Given the description of an element on the screen output the (x, y) to click on. 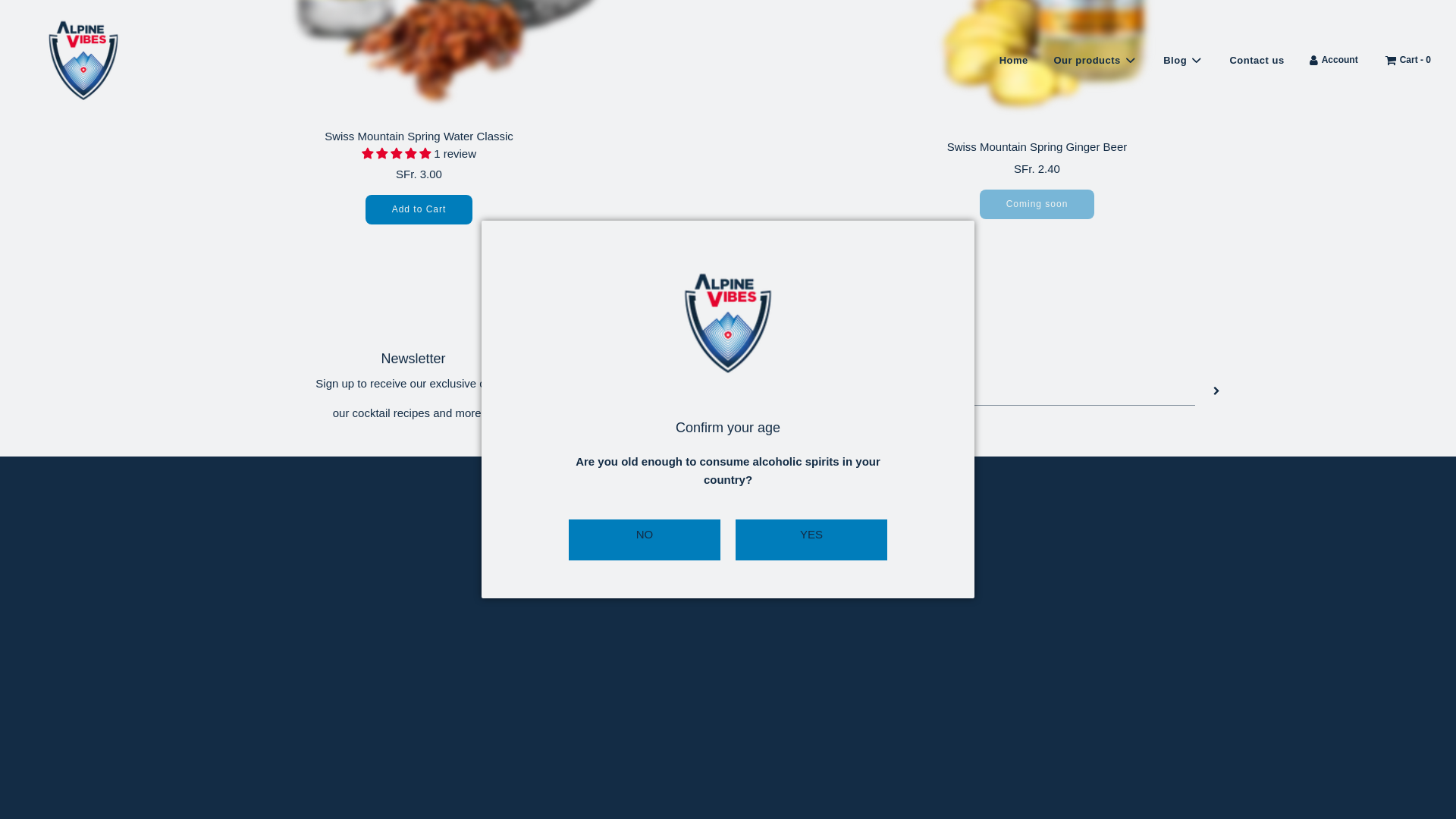
American Express (638, 738)
PayPal (772, 738)
Mastercard (727, 738)
Apple Pay (682, 738)
Visa (817, 738)
